Given the description of an element on the screen output the (x, y) to click on. 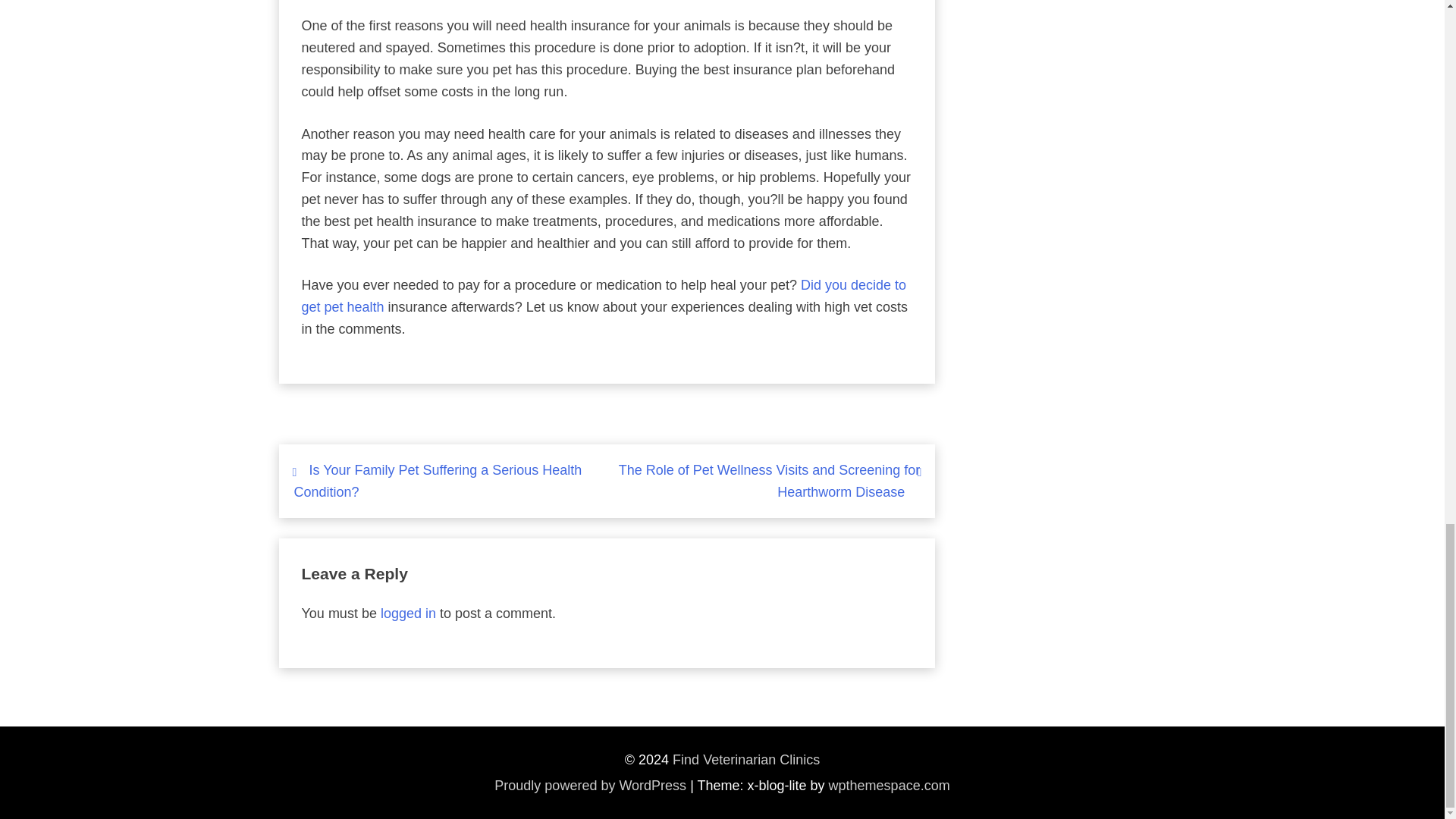
Proudly powered by WordPress (590, 785)
Find Veterinarian Clinics (745, 760)
Did you decide to get pet health (604, 295)
Is Your Family Pet Suffering a Serious Health Condition? (438, 480)
Find more information on Older dogs (604, 295)
wpthemespace.com (889, 785)
logged in (407, 613)
